Given the description of an element on the screen output the (x, y) to click on. 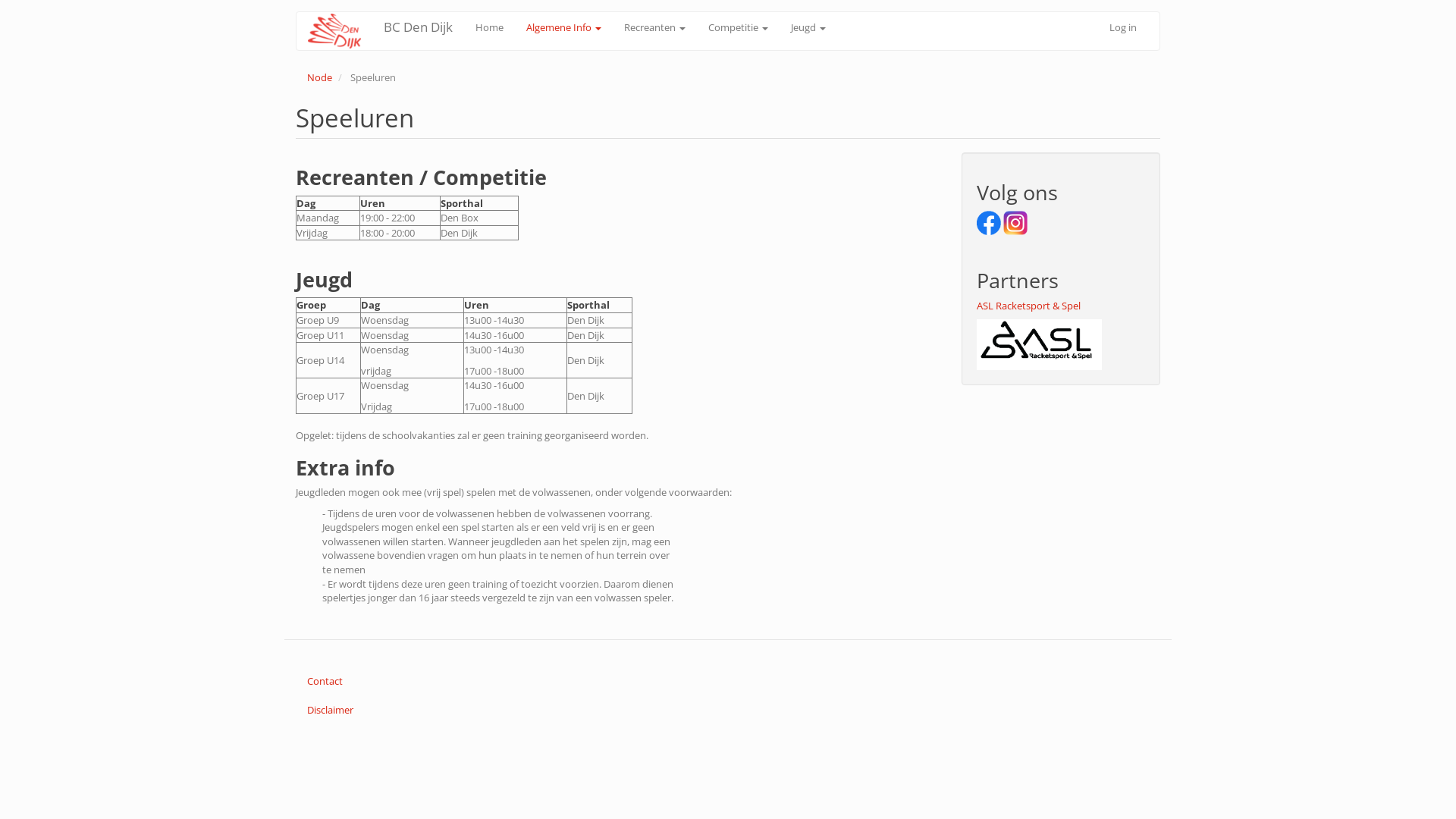
BC Den Dijk Element type: text (418, 27)
Competitie Element type: text (737, 27)
Recreanten Element type: text (654, 27)
Skip to main content Element type: text (0, 11)
Home Element type: text (489, 27)
Home Element type: hover (339, 30)
Contact Element type: text (727, 681)
ASL Racketsport & Spel Element type: text (1028, 305)
Disclaimer Element type: text (727, 709)
Node Element type: text (319, 77)
Jeugd Element type: text (808, 27)
Log in Element type: text (1123, 27)
Algemene Info Element type: text (563, 27)
